Given the description of an element on the screen output the (x, y) to click on. 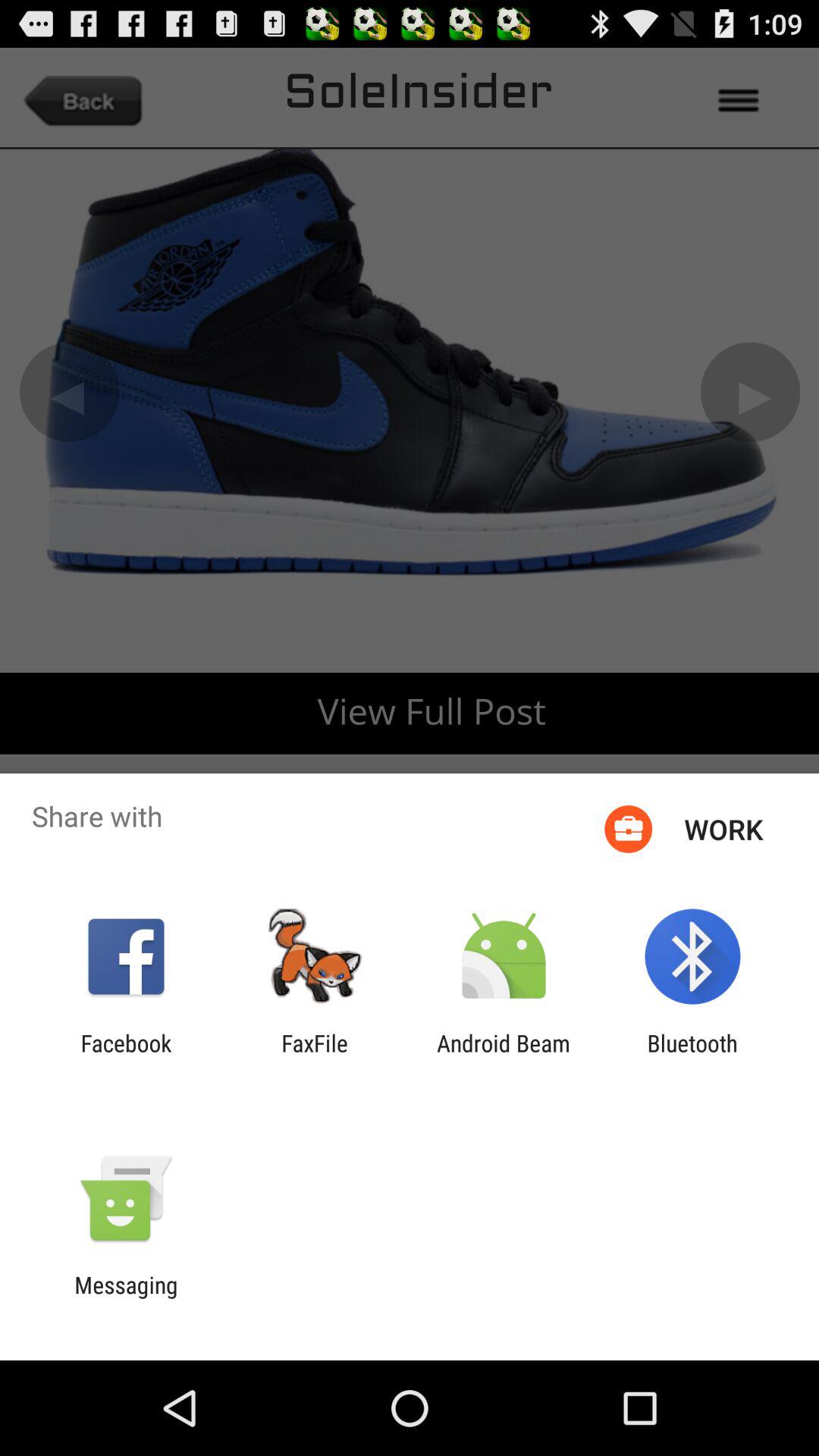
turn off the bluetooth icon (692, 1056)
